Given the description of an element on the screen output the (x, y) to click on. 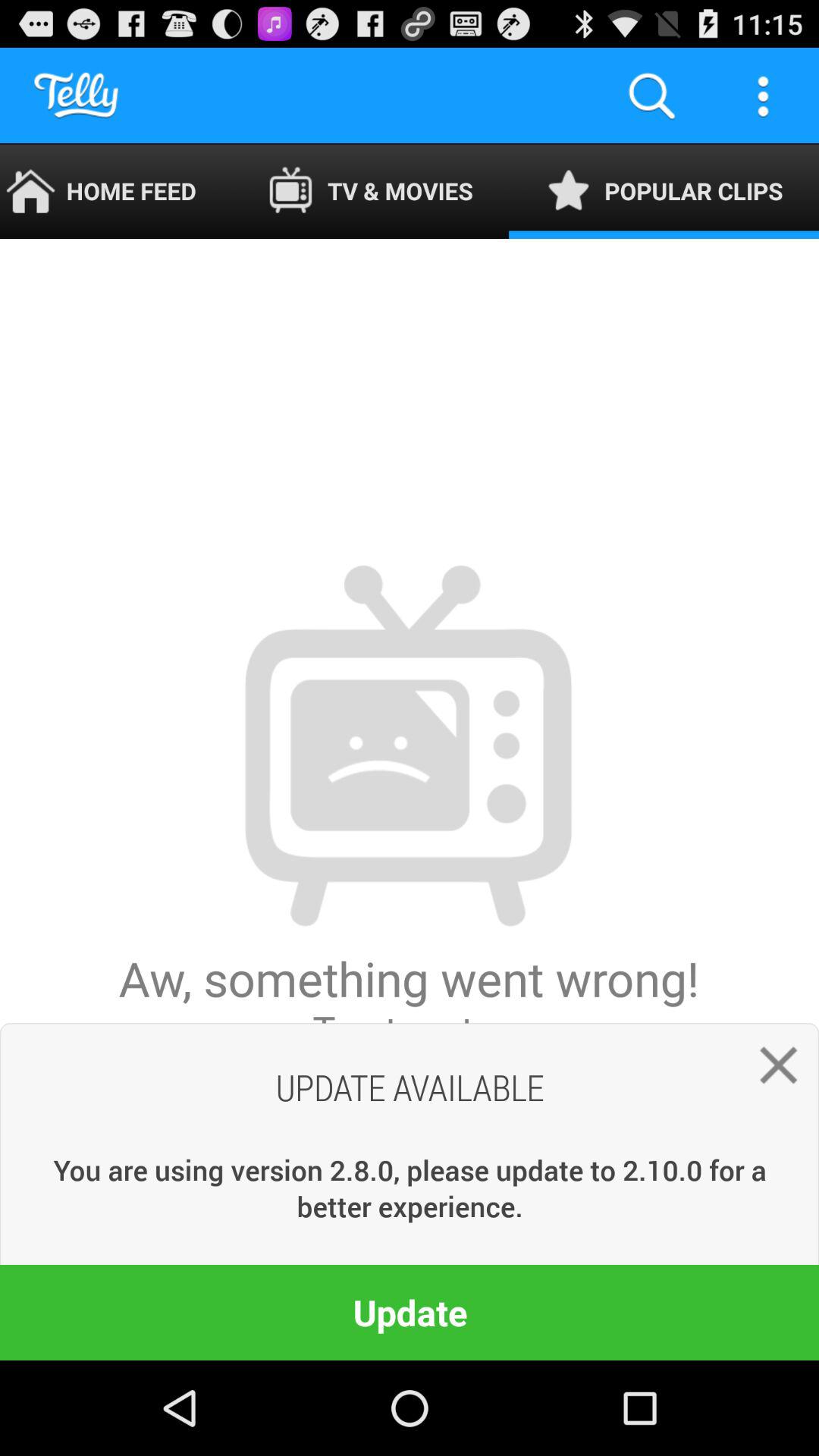
jump to the aw something went icon (409, 799)
